Given the description of an element on the screen output the (x, y) to click on. 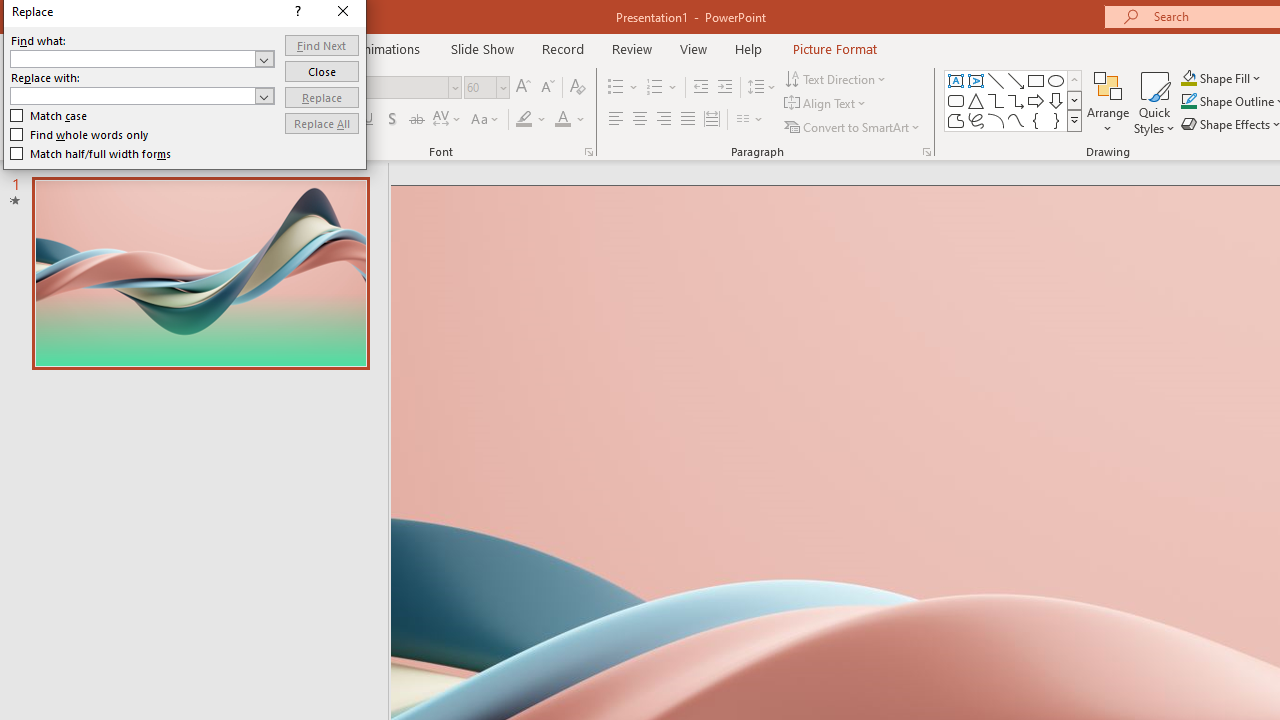
Font... (588, 151)
Arrow: Down (1055, 100)
Right Brace (1055, 120)
AutomationID: ShapesInsertGallery (1014, 100)
Text Direction (836, 78)
Decrease Indent (700, 87)
Left Brace (1035, 120)
